Given the description of an element on the screen output the (x, y) to click on. 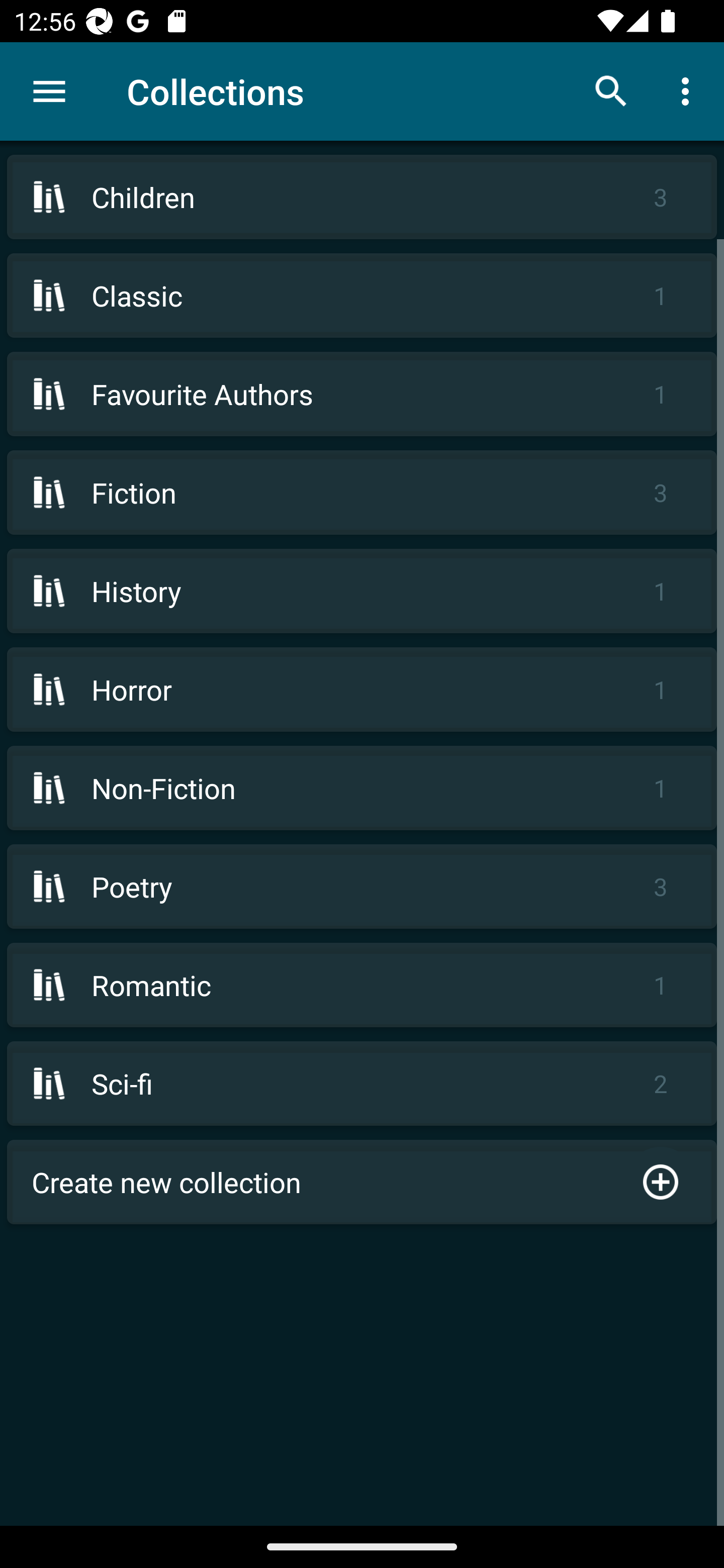
Menu (49, 91)
Search books & documents (611, 90)
More options (688, 90)
Children 3 (361, 197)
Classic 1 (361, 295)
Favourite Authors 1 (361, 393)
Fiction 3 (361, 492)
History 1 (361, 590)
Horror 1 (361, 689)
Non-Fiction 1 (361, 787)
Poetry 3 (361, 885)
Romantic 1 (361, 984)
Sci-fi 2 (361, 1083)
Create new collection (361, 1181)
